Given the description of an element on the screen output the (x, y) to click on. 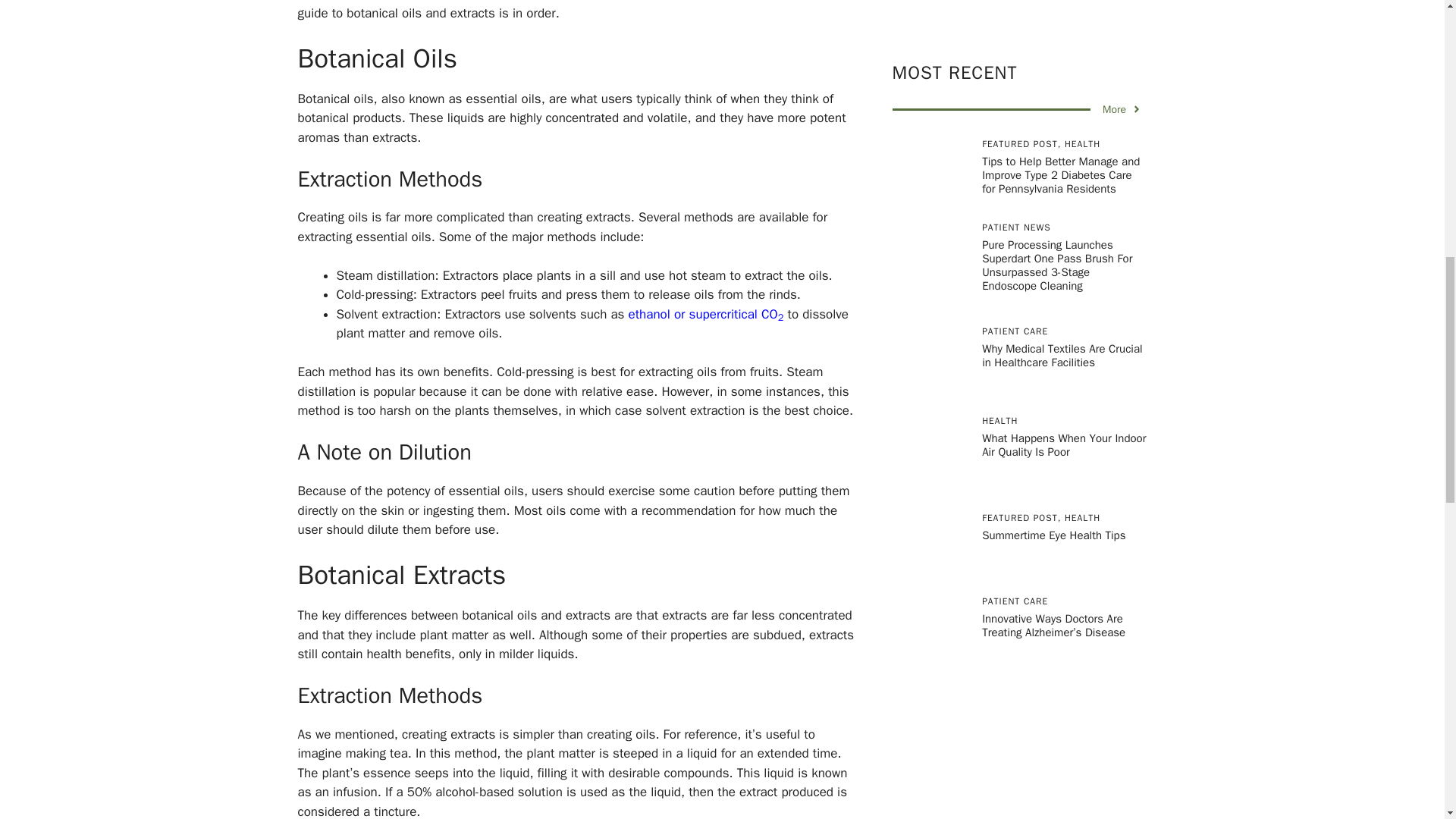
Why Medical Textiles Are Crucial in Healthcare Facilities (1061, 239)
ethanol or supercritical CO2 (705, 314)
Summertime Eye Health Tips   (1056, 419)
What Happens When Your Indoor Air Quality Is Poor (1063, 329)
More (1121, 1)
